Given the description of an element on the screen output the (x, y) to click on. 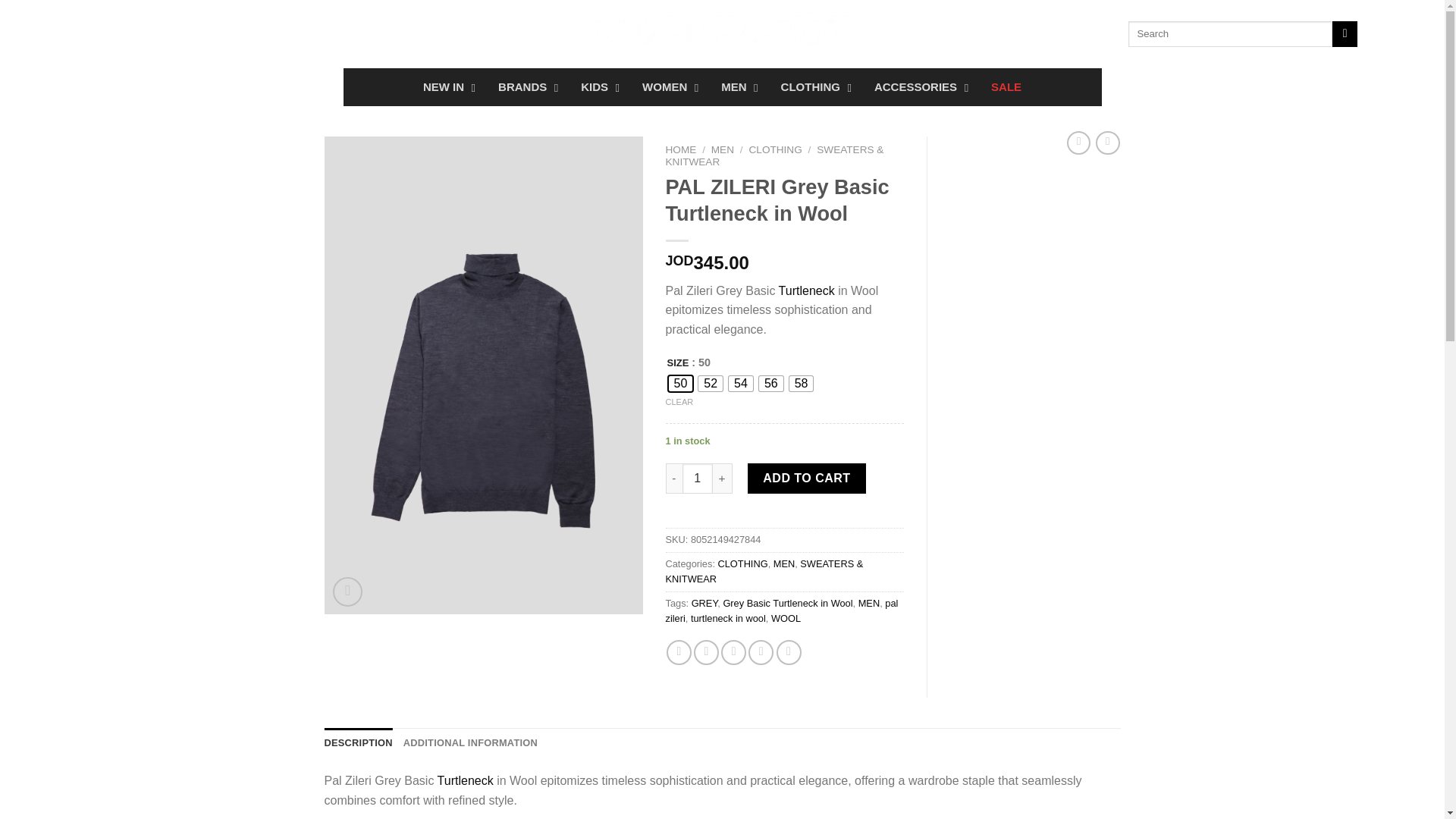
Search (1344, 33)
54 (740, 383)
56 (770, 383)
52 (710, 383)
1 (721, 86)
Zoom (697, 478)
LUXINABOX - Your Online Luxury Store. (347, 591)
Follow on Facebook (721, 34)
58 (53, 33)
FREE DELIVERY (801, 383)
NEW IN (169, 33)
Follow on Instagram (445, 86)
50 (73, 33)
